Given the description of an element on the screen output the (x, y) to click on. 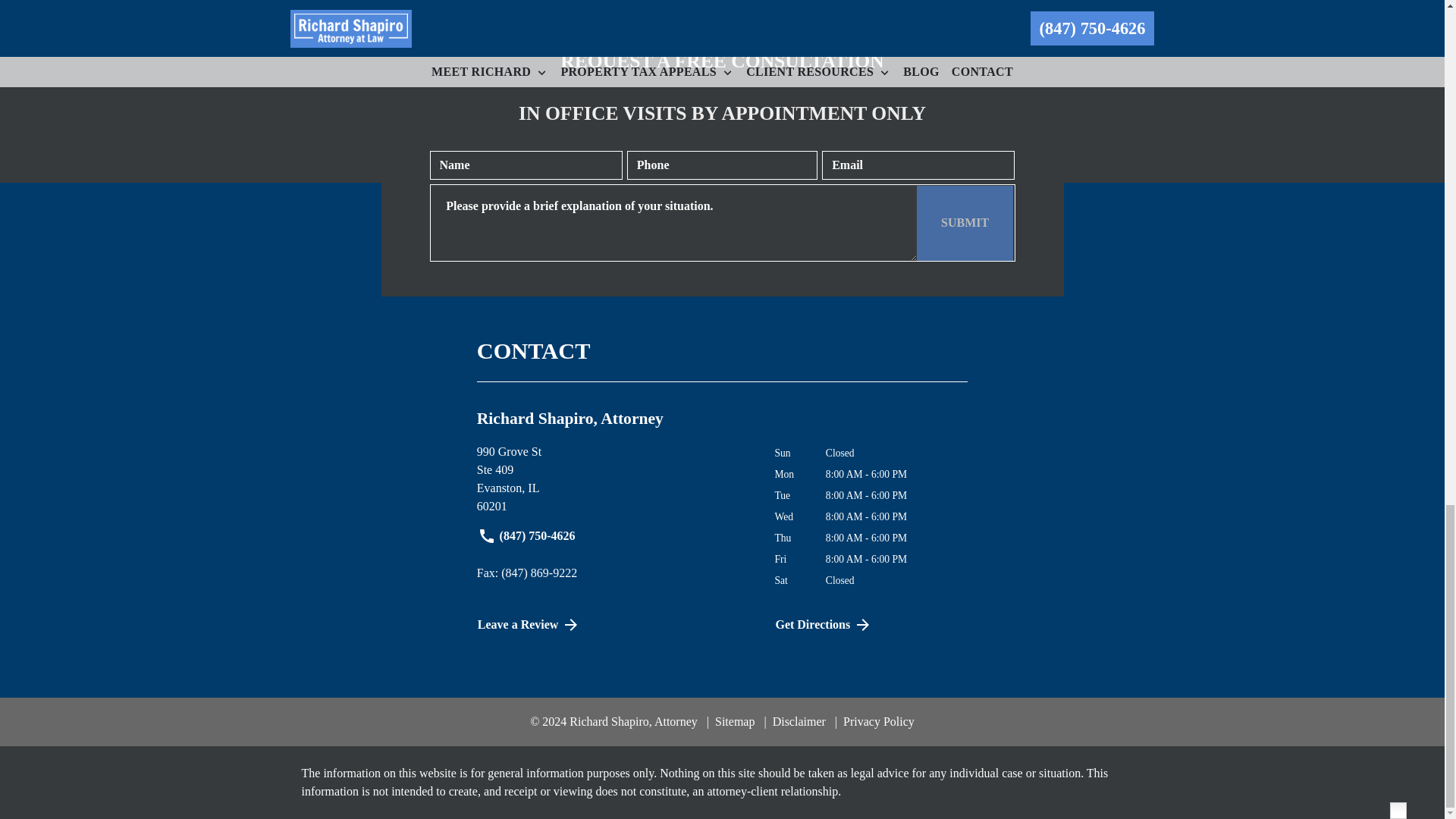
Disclaimer (793, 721)
Privacy Policy (874, 721)
Sitemap (614, 479)
Get Directions (730, 721)
SUBMIT (865, 624)
Leave a Review (965, 223)
